Given the description of an element on the screen output the (x, y) to click on. 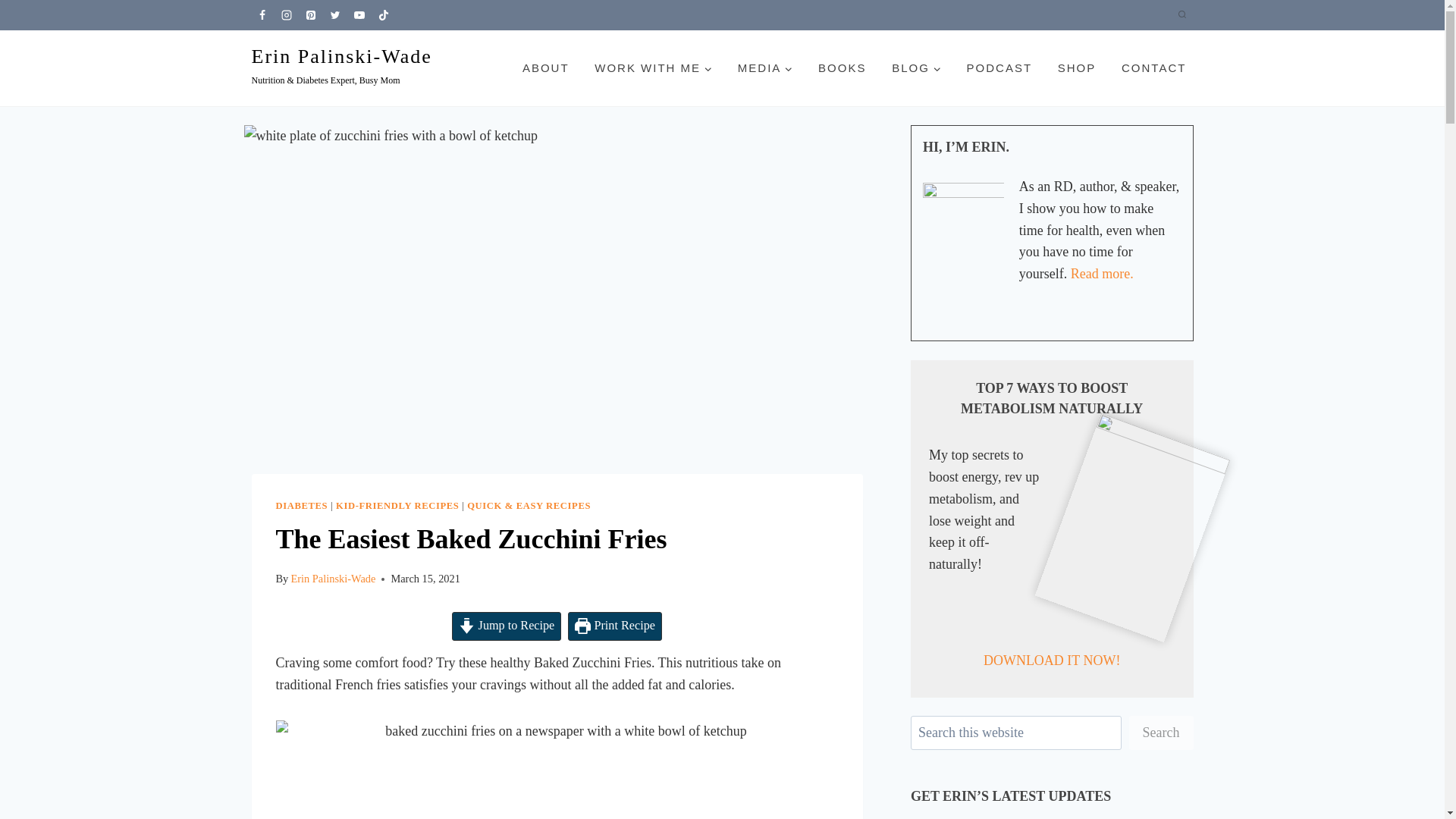
BOOKS (841, 68)
SHOP (1077, 68)
WORK WITH ME (653, 68)
Jump to Recipe (505, 625)
Erin Palinski-Wade (332, 578)
CONTACT (1153, 68)
KID-FRIENDLY RECIPES (397, 505)
DIABETES (302, 505)
PODCAST (999, 68)
MEDIA (764, 68)
